Given the description of an element on the screen output the (x, y) to click on. 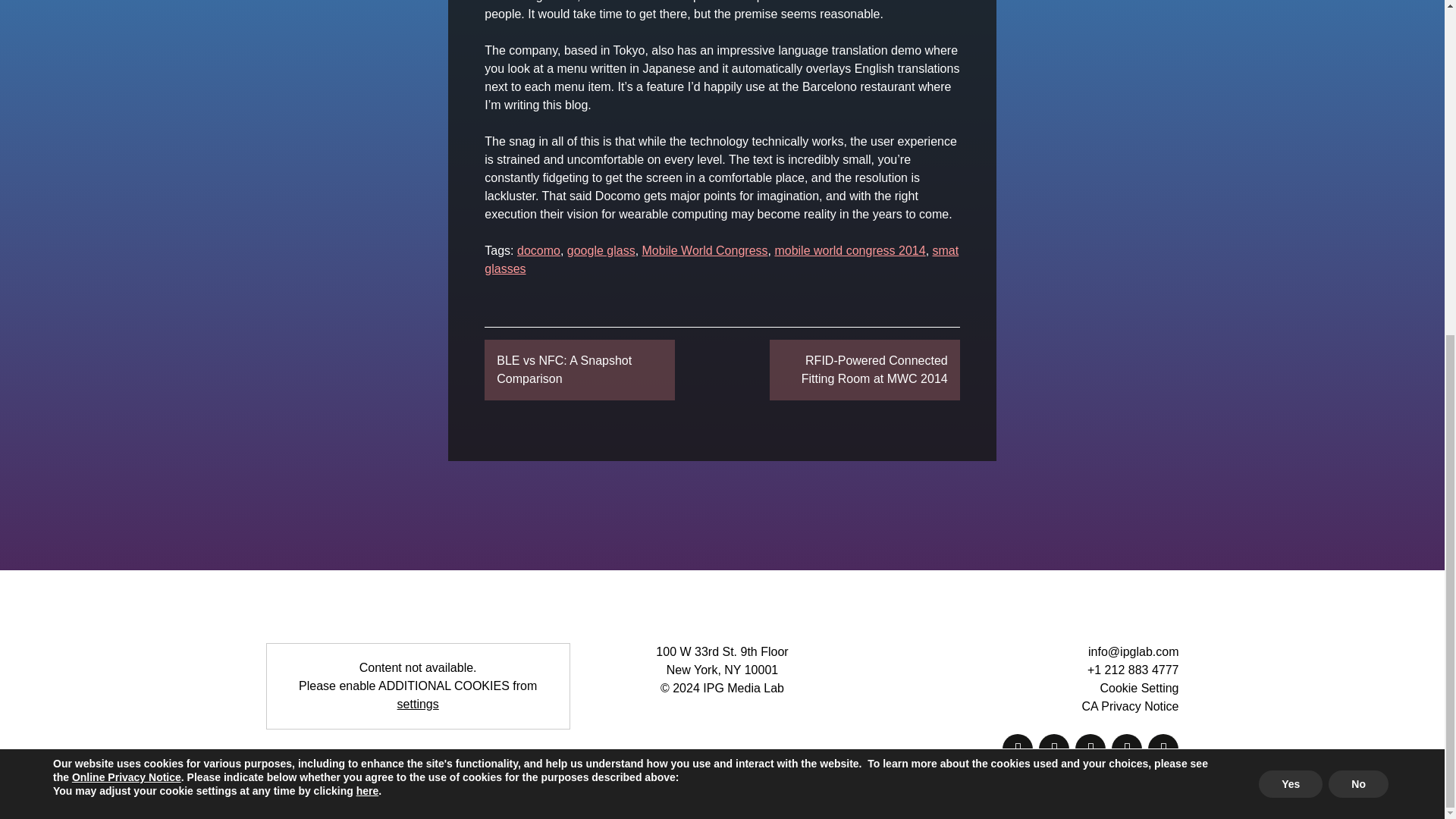
CA Privacy Notice (1129, 706)
No (1358, 221)
Mobile World Congress (705, 250)
Instagram (1126, 748)
smat glasses (721, 259)
Yes (1290, 221)
Online Privacy Notice (125, 215)
LinkedIn (1162, 748)
google glass (600, 250)
Medium (1017, 748)
